Given the description of an element on the screen output the (x, y) to click on. 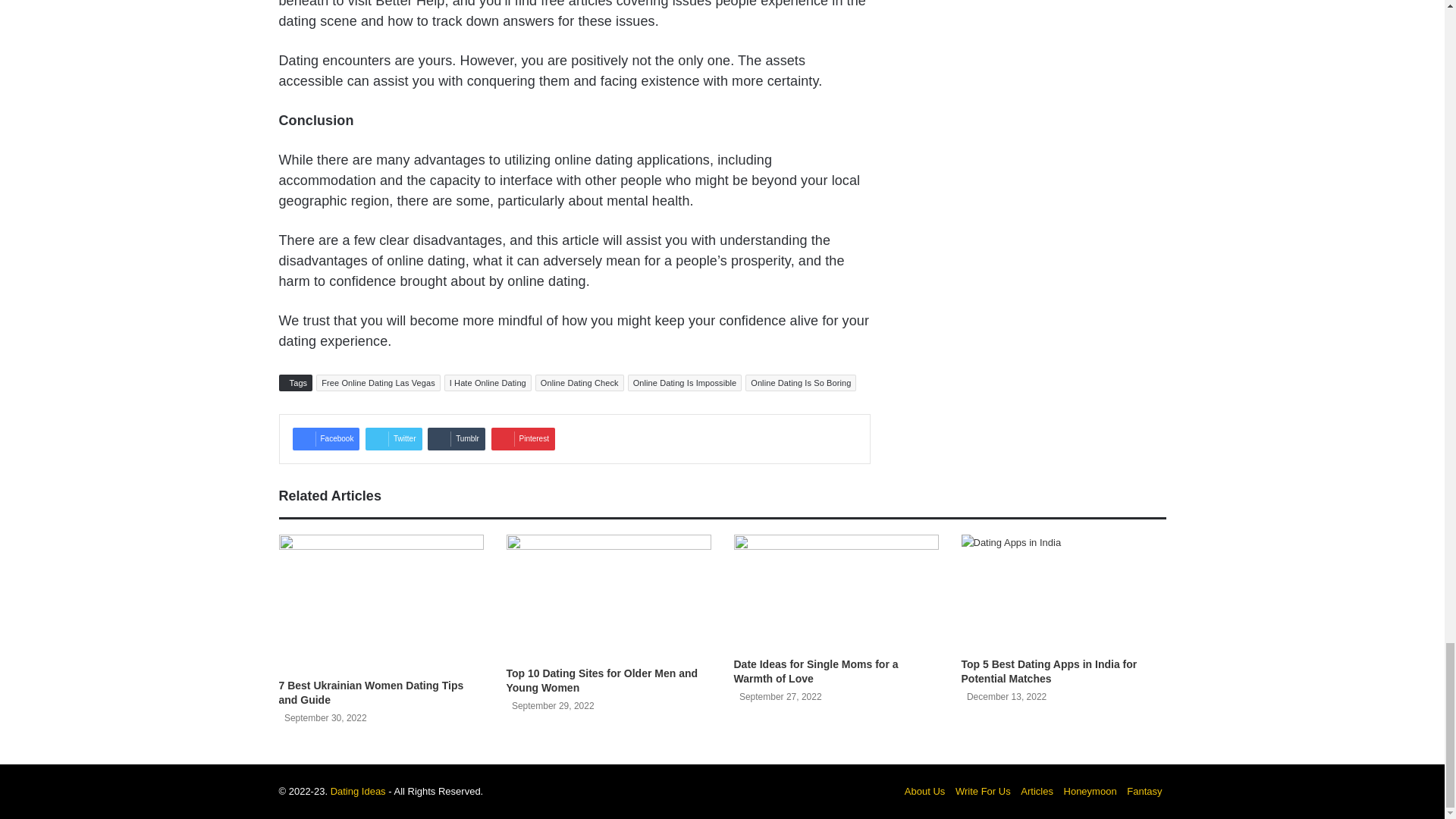
I Hate Online Dating (487, 382)
Facebook (325, 438)
Pinterest (523, 438)
Free Online Dating Las Vegas (378, 382)
Tumblr (456, 438)
Tumblr (456, 438)
Twitter (393, 438)
Online Dating Is So Boring (800, 382)
Online Dating Is Impossible (684, 382)
Pinterest (523, 438)
Online Dating Check (579, 382)
Twitter (393, 438)
Facebook (325, 438)
